Given the description of an element on the screen output the (x, y) to click on. 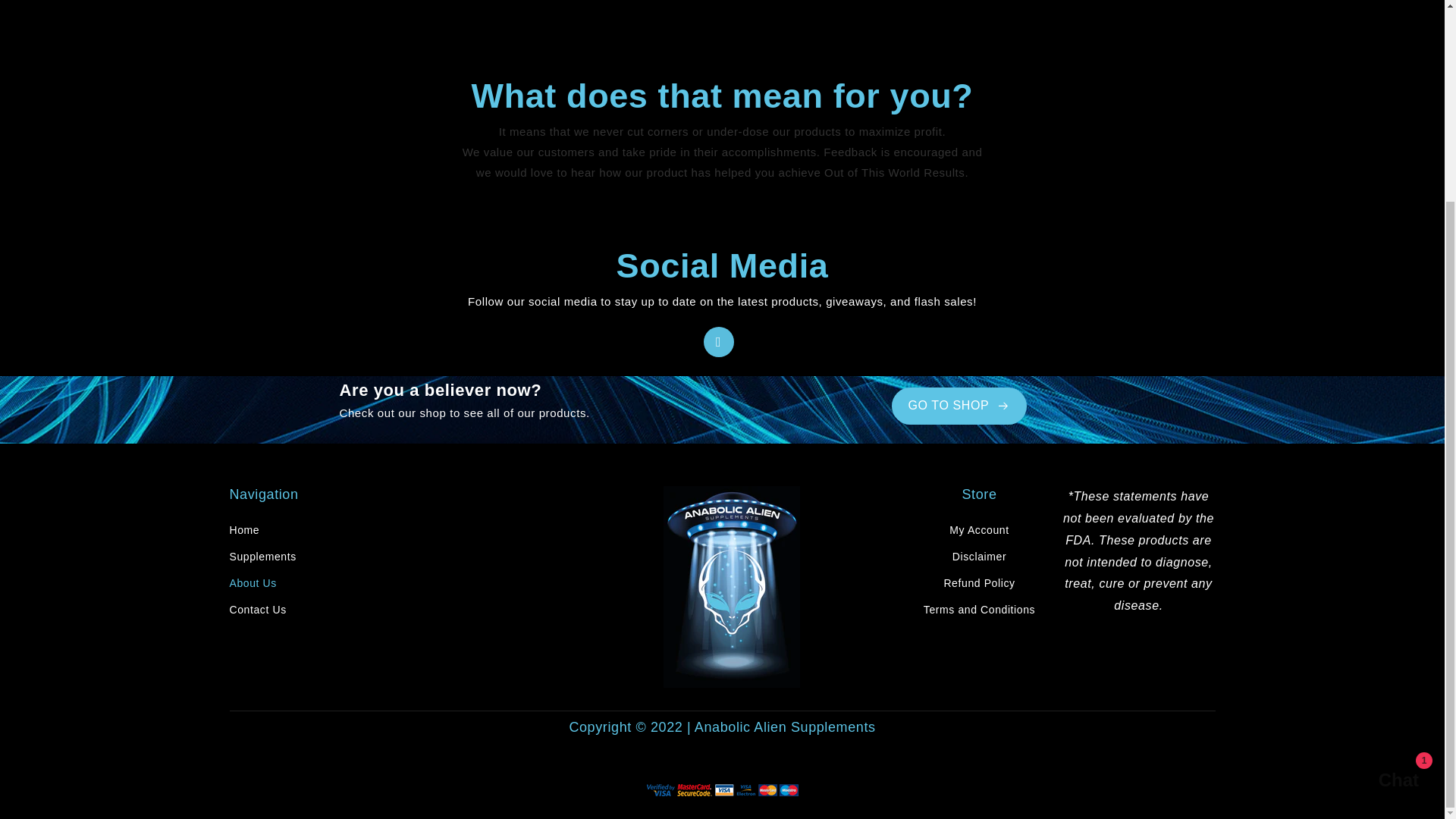
About Us (252, 583)
Terms and Conditions (979, 610)
Refund Policy (978, 583)
Disclaimer (959, 406)
Home (979, 556)
My Account (243, 531)
Contact Us (979, 531)
Shopify online store chat (256, 610)
Supplements (1383, 523)
